Given the description of an element on the screen output the (x, y) to click on. 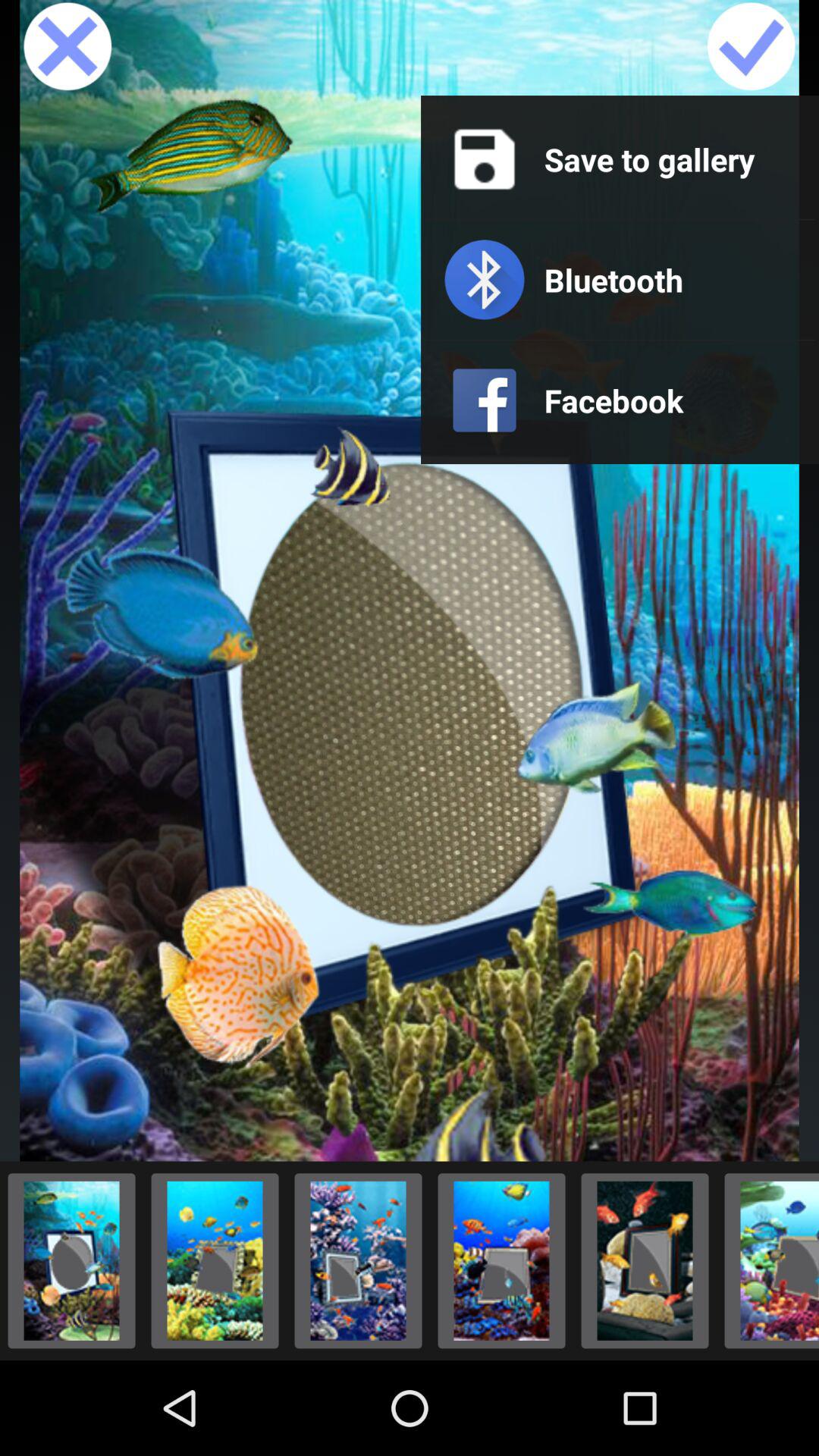
click to confirm (751, 47)
